Given the description of an element on the screen output the (x, y) to click on. 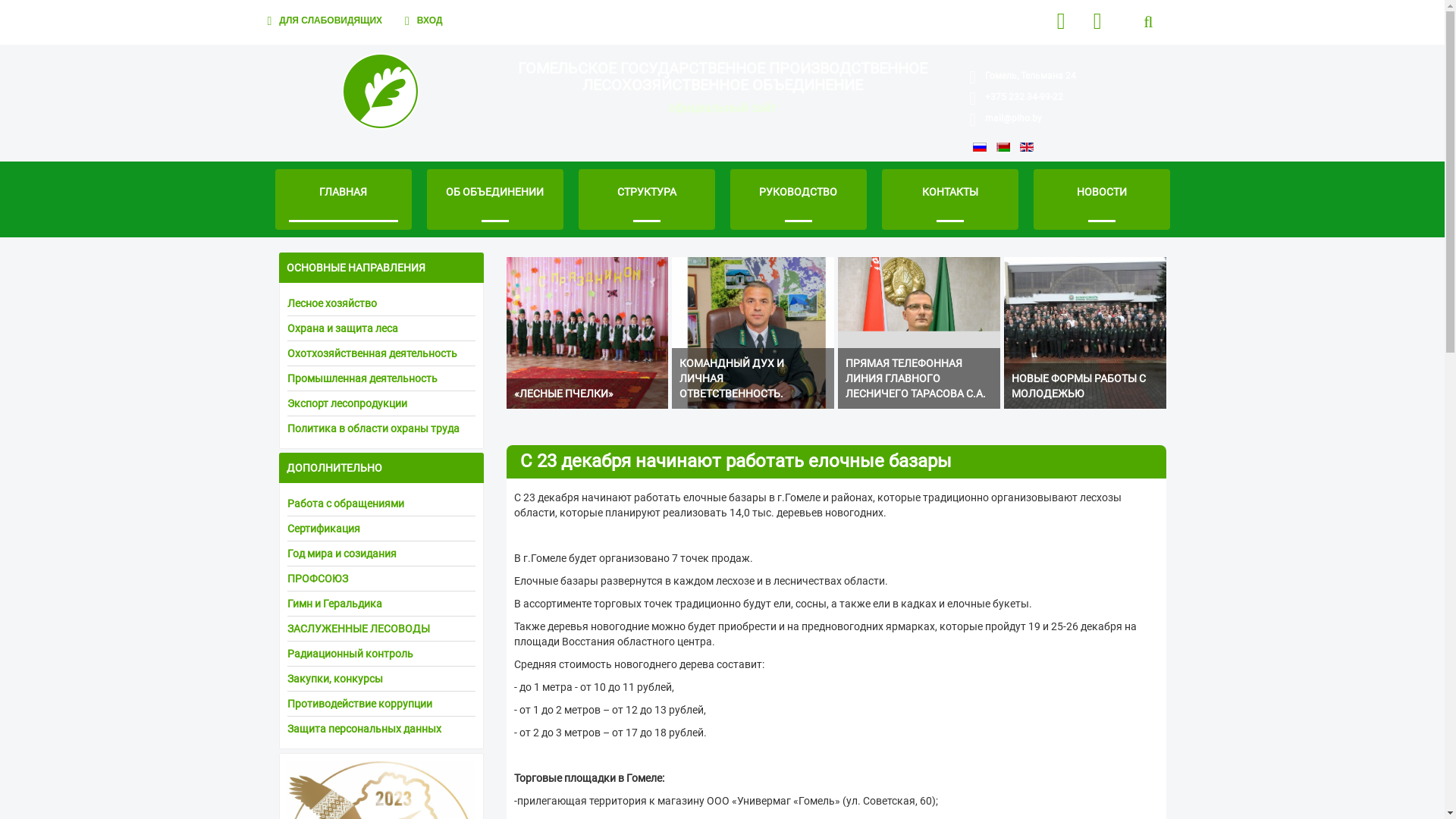
ru-RU Element type: hover (978, 146)
+375 232 34-99-22 Element type: text (1024, 96)
Belarusian (be-BY) Element type: hover (1003, 146)
English (United Kingdom) Element type: hover (1025, 146)
mail@plho.by Element type: text (1013, 117)
